Given the description of an element on the screen output the (x, y) to click on. 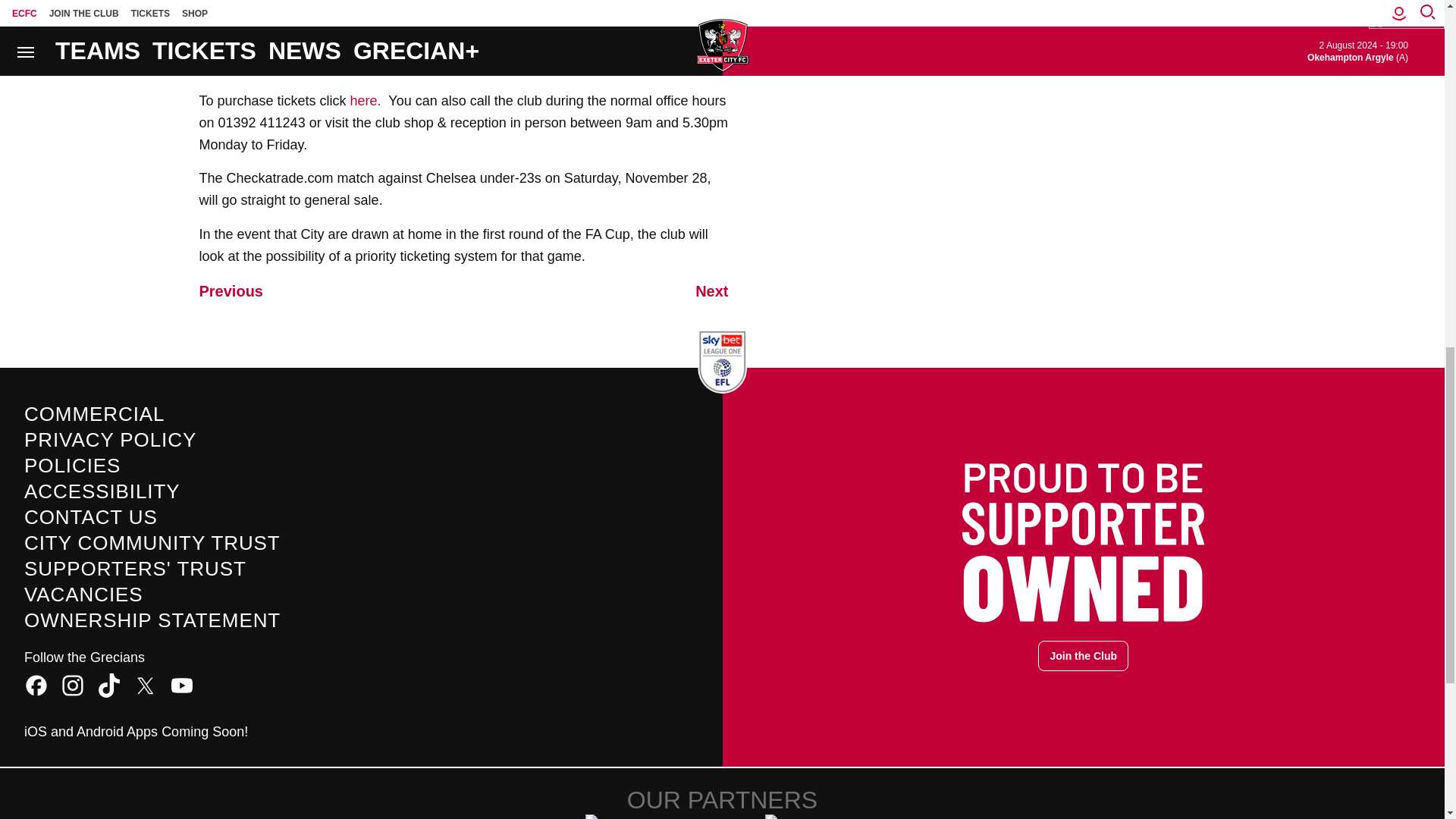
X Formally know as Twitter (145, 685)
HEL (632, 816)
TikTok icon (108, 685)
Instagram (72, 685)
Facebook (36, 685)
The Trust (812, 816)
